Given the description of an element on the screen output the (x, y) to click on. 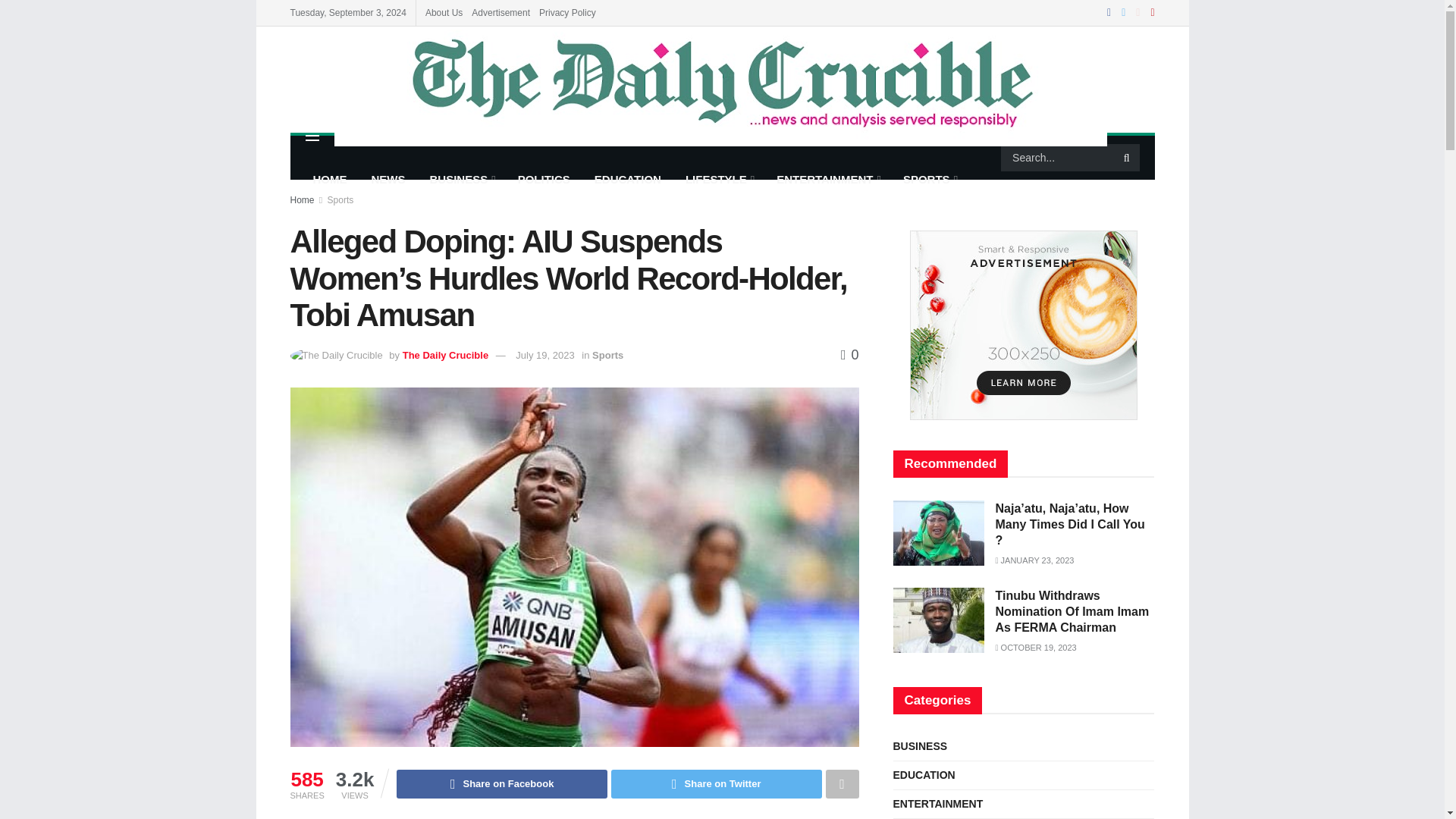
EDUCATION (627, 179)
BUSINESS (460, 179)
Advertisement (500, 12)
LIFESTYLE (718, 179)
About Us (444, 12)
Privacy Policy (566, 12)
NEWS (388, 179)
POLITICS (543, 179)
HOME (328, 179)
